Given the description of an element on the screen output the (x, y) to click on. 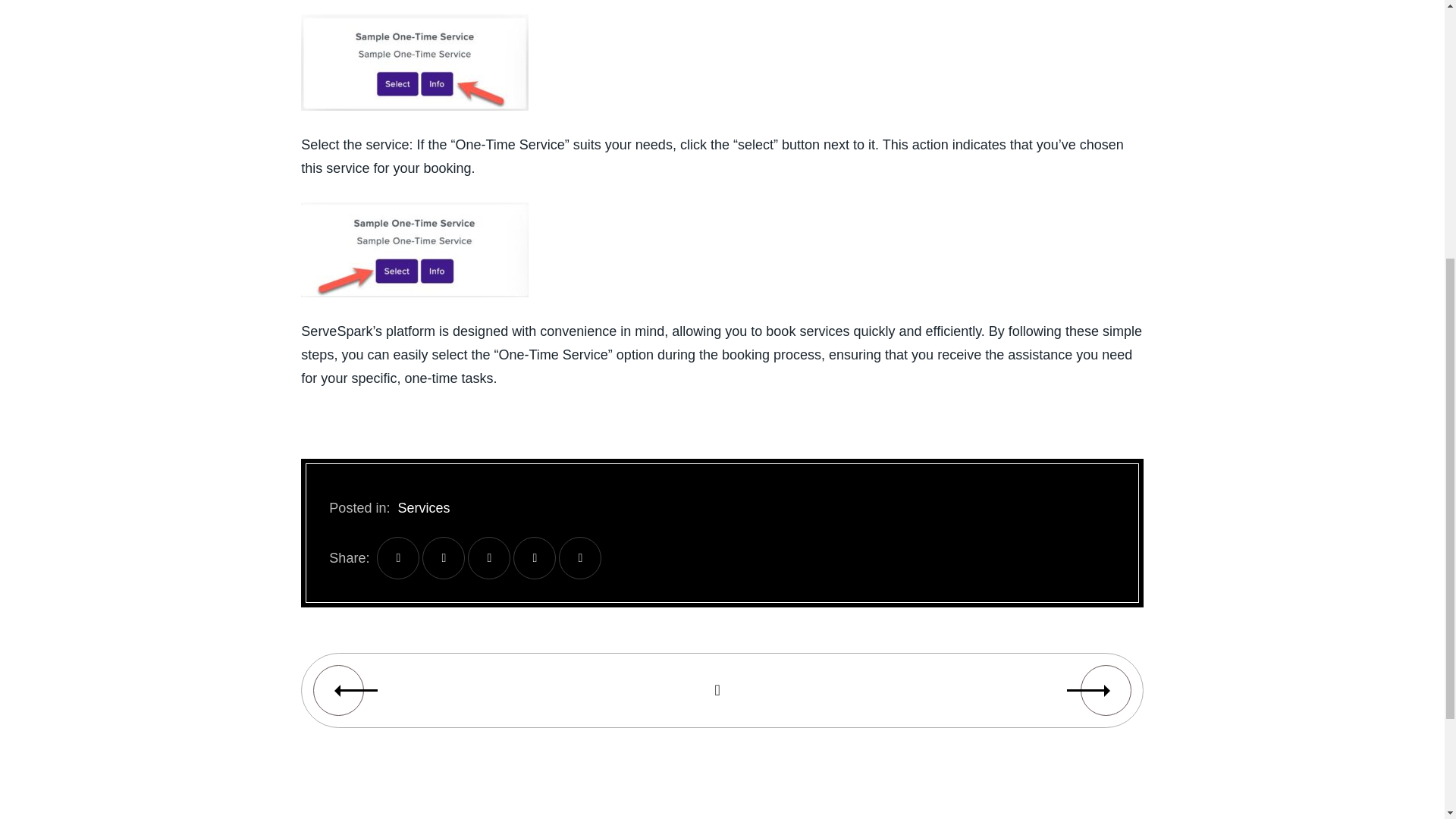
Share on Reddit (534, 558)
Share on Facebook (398, 558)
Services (423, 507)
Share on Linkedin (489, 558)
Share on Pinterest (580, 558)
Share on Twitter (443, 558)
